Given the description of an element on the screen output the (x, y) to click on. 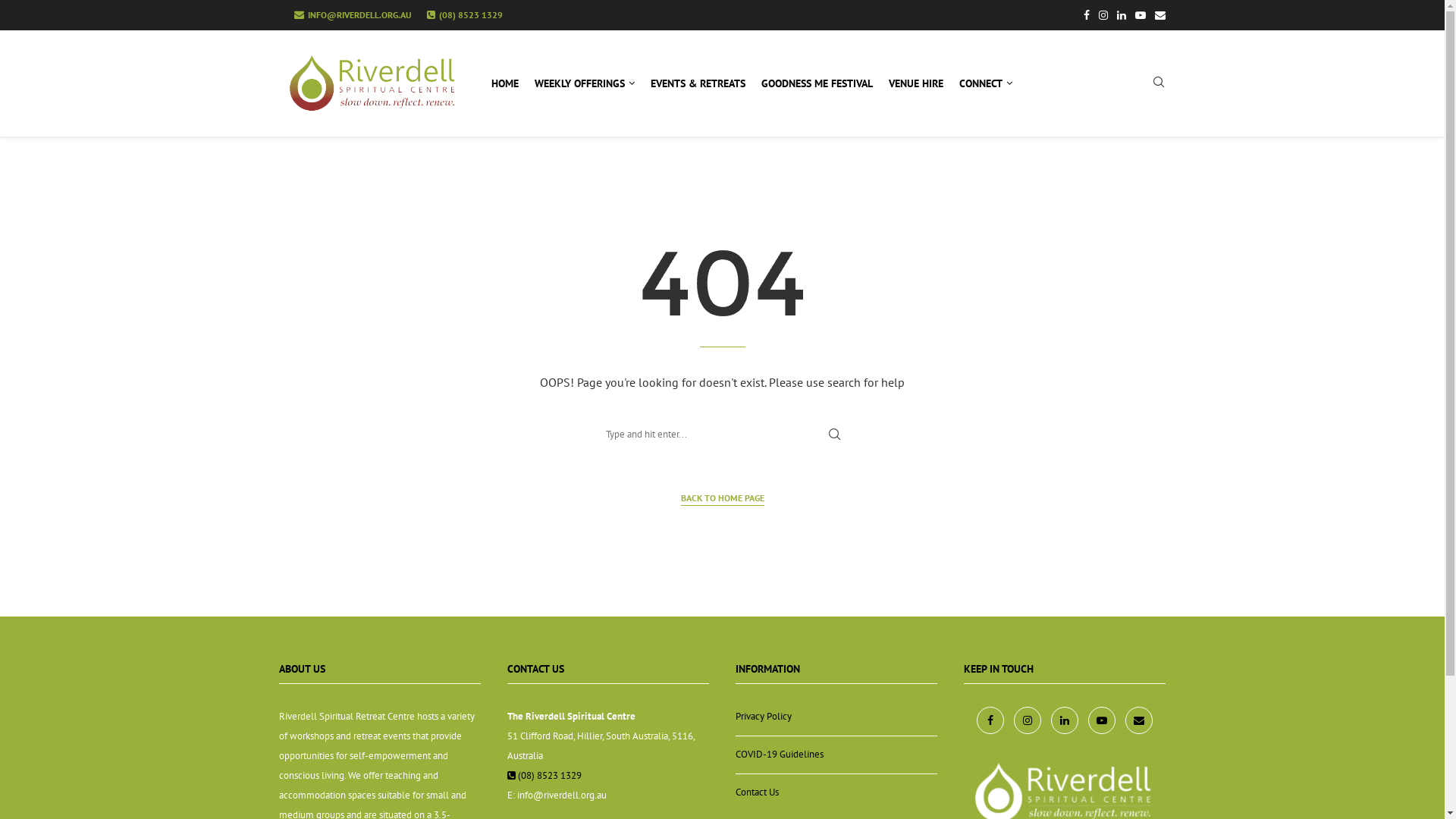
(08) 8523 1329 Element type: text (544, 774)
Contact Us Element type: text (756, 791)
Privacy Policy Element type: text (763, 715)
CONNECT Element type: text (984, 83)
COVID-19 Guidelines Element type: text (779, 753)
(08) 8523 1329 Element type: text (464, 14)
VENUE HIRE Element type: text (916, 83)
HOME Element type: text (505, 83)
INFO@RIVERDELL.ORG.AU Element type: text (352, 14)
BACK TO HOME PAGE Element type: text (722, 498)
Search Element type: text (32, 15)
WEEKLY OFFERINGS Element type: text (584, 83)
GOODNESS ME FESTIVAL Element type: text (817, 83)
EVENTS & RETREATS Element type: text (698, 83)
